Given the description of an element on the screen output the (x, y) to click on. 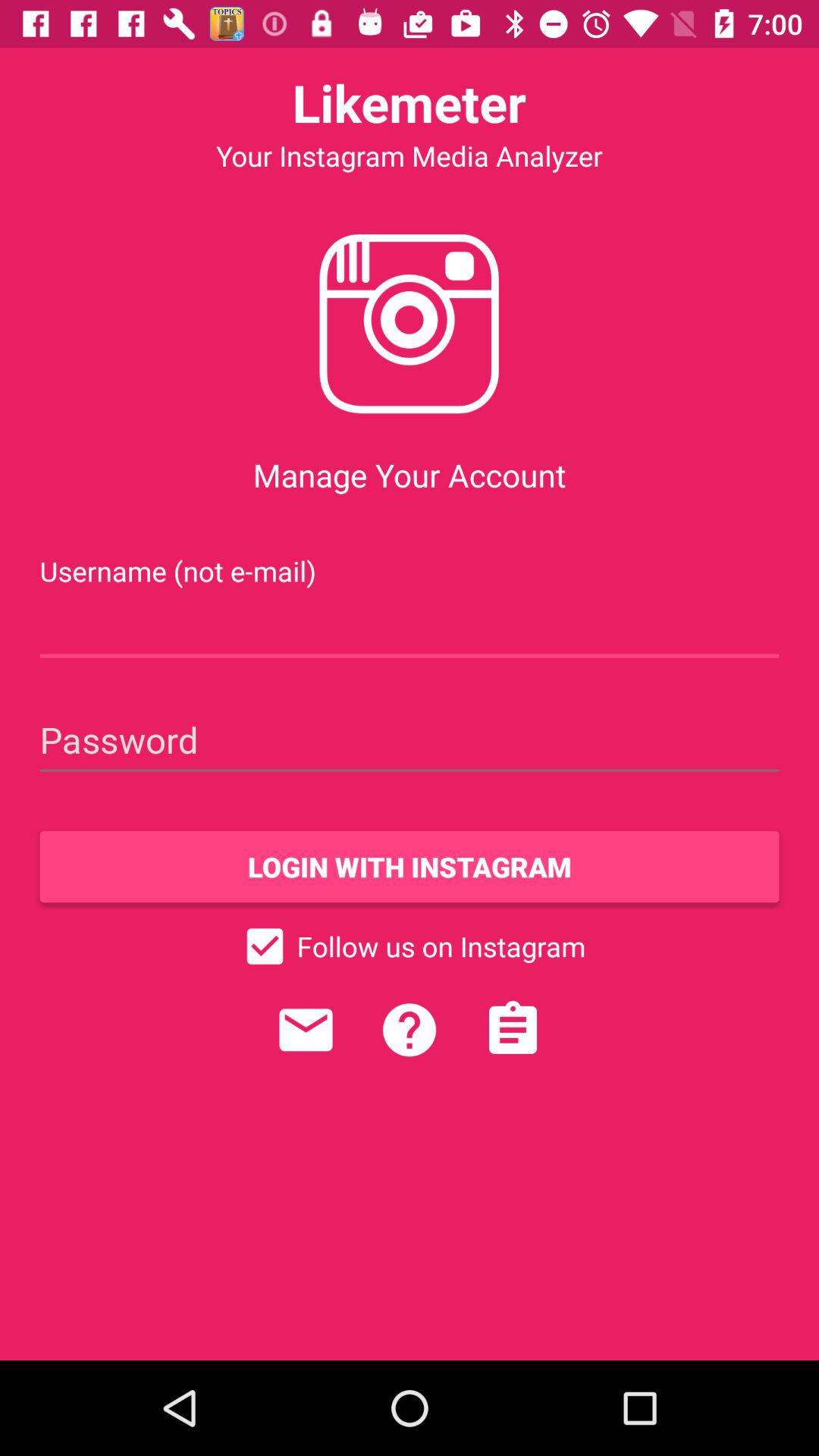
inbox (305, 1029)
